Given the description of an element on the screen output the (x, y) to click on. 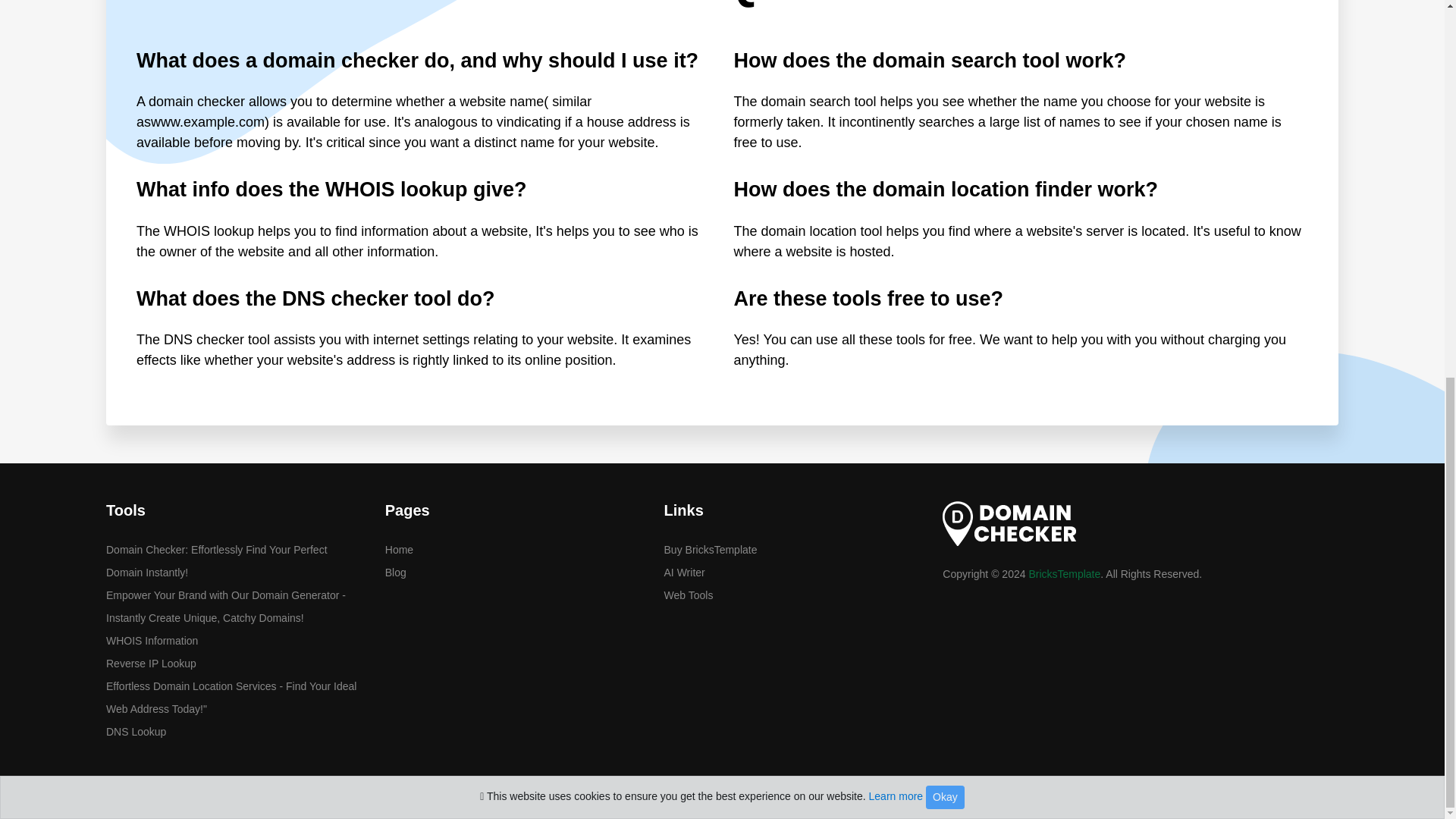
Reverse IP Lookup (234, 662)
WHOIS Information (234, 640)
Buy BricksTemplate (791, 549)
BricksTemplate (1063, 573)
Home (513, 549)
DNS Lookup (234, 731)
Learn more (896, 99)
Home (513, 549)
Web Tools (791, 594)
Okay (944, 100)
AI Writer (791, 572)
